Given the description of an element on the screen output the (x, y) to click on. 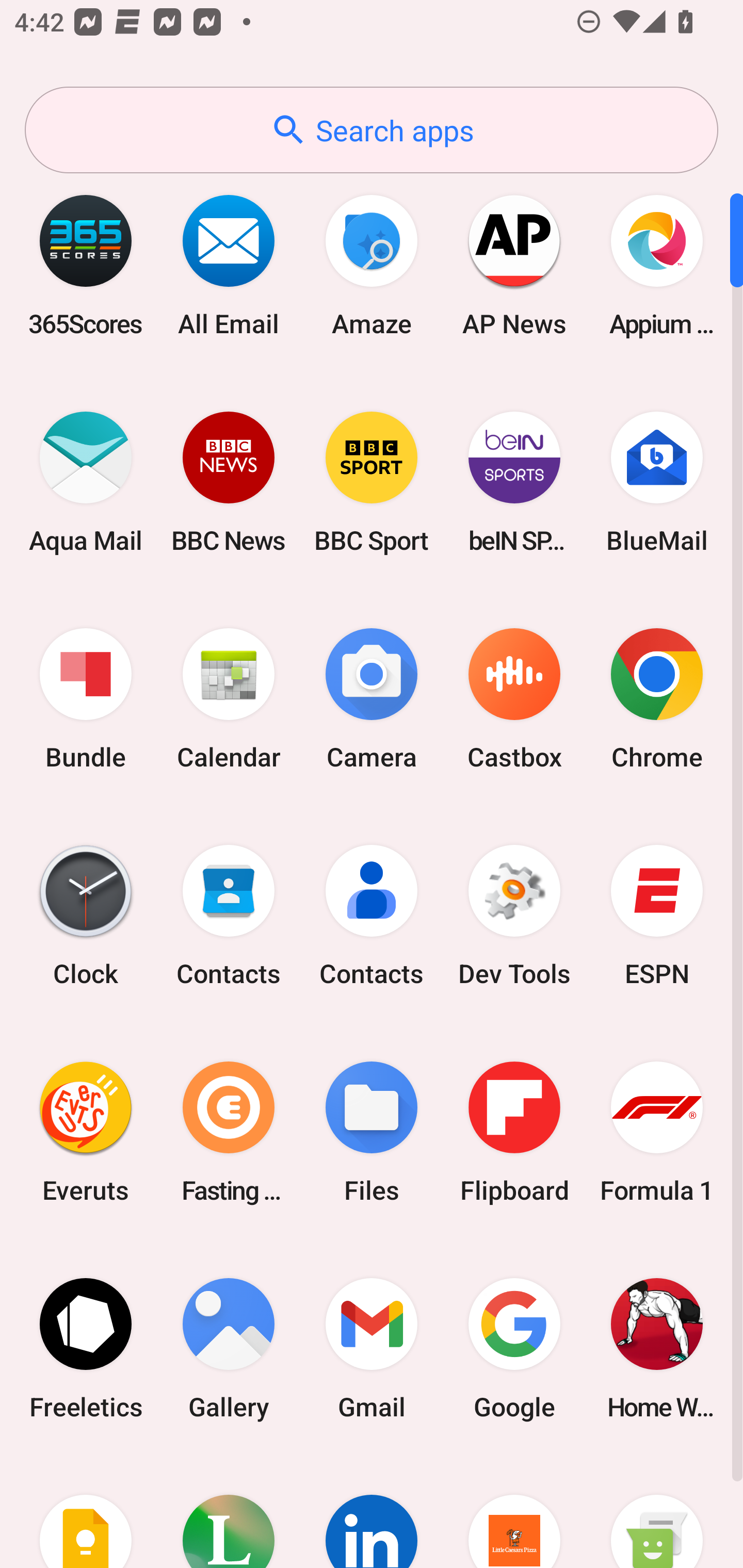
  Search apps (371, 130)
365Scores (85, 264)
All Email (228, 264)
Amaze (371, 264)
AP News (514, 264)
Appium Settings (656, 264)
Aqua Mail (85, 482)
BBC News (228, 482)
BBC Sport (371, 482)
beIN SPORTS (514, 482)
BlueMail (656, 482)
Bundle (85, 699)
Calendar (228, 699)
Camera (371, 699)
Castbox (514, 699)
Chrome (656, 699)
Clock (85, 915)
Contacts (228, 915)
Contacts (371, 915)
Dev Tools (514, 915)
ESPN (656, 915)
Everuts (85, 1131)
Fasting Coach (228, 1131)
Files (371, 1131)
Flipboard (514, 1131)
Formula 1 (656, 1131)
Freeletics (85, 1348)
Gallery (228, 1348)
Gmail (371, 1348)
Google (514, 1348)
Home Workout (656, 1348)
Keep Notes (85, 1512)
Lifesum (228, 1512)
LinkedIn (371, 1512)
Little Caesars Pizza (514, 1512)
Messaging (656, 1512)
